Given the description of an element on the screen output the (x, y) to click on. 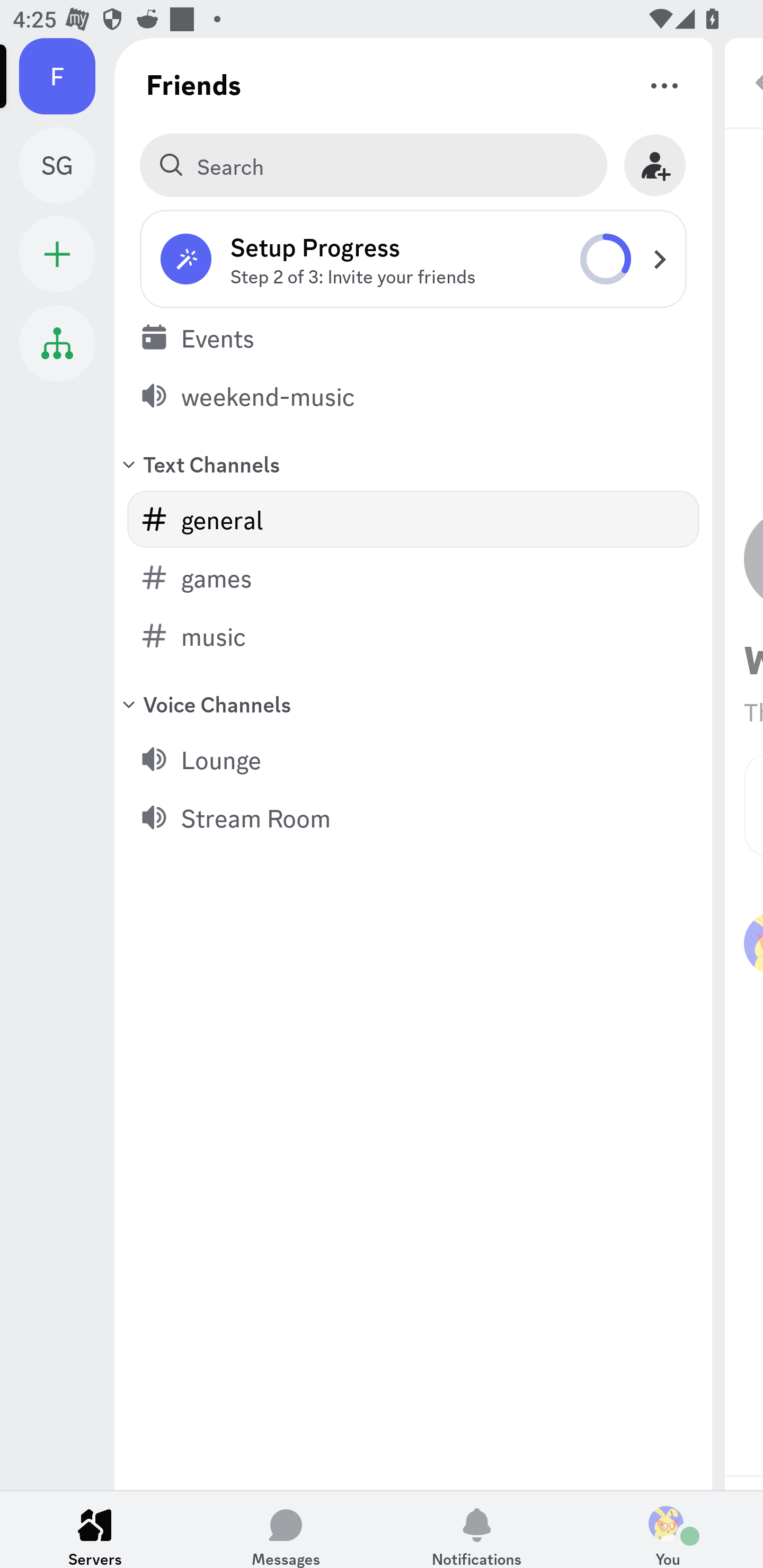
  Friends F (66, 75)
Friends (193, 83)
  Study Group SG (66, 165)
Search (373, 165)
Invite (654, 165)
Add a Server (57, 253)
Student Hub (57, 343)
Events (413, 336)
Text Channels (412, 462)
general (text channel) general (413, 518)
games (text channel) games (413, 576)
music (text channel) music (413, 635)
Voice Channels (412, 702)
Lounge (voice channel), 0 users Lounge (413, 758)
Stream Room (voice channel), 0 users Stream Room (413, 817)
Servers (95, 1529)
Messages (285, 1529)
Notifications (476, 1529)
You (667, 1529)
